Given the description of an element on the screen output the (x, y) to click on. 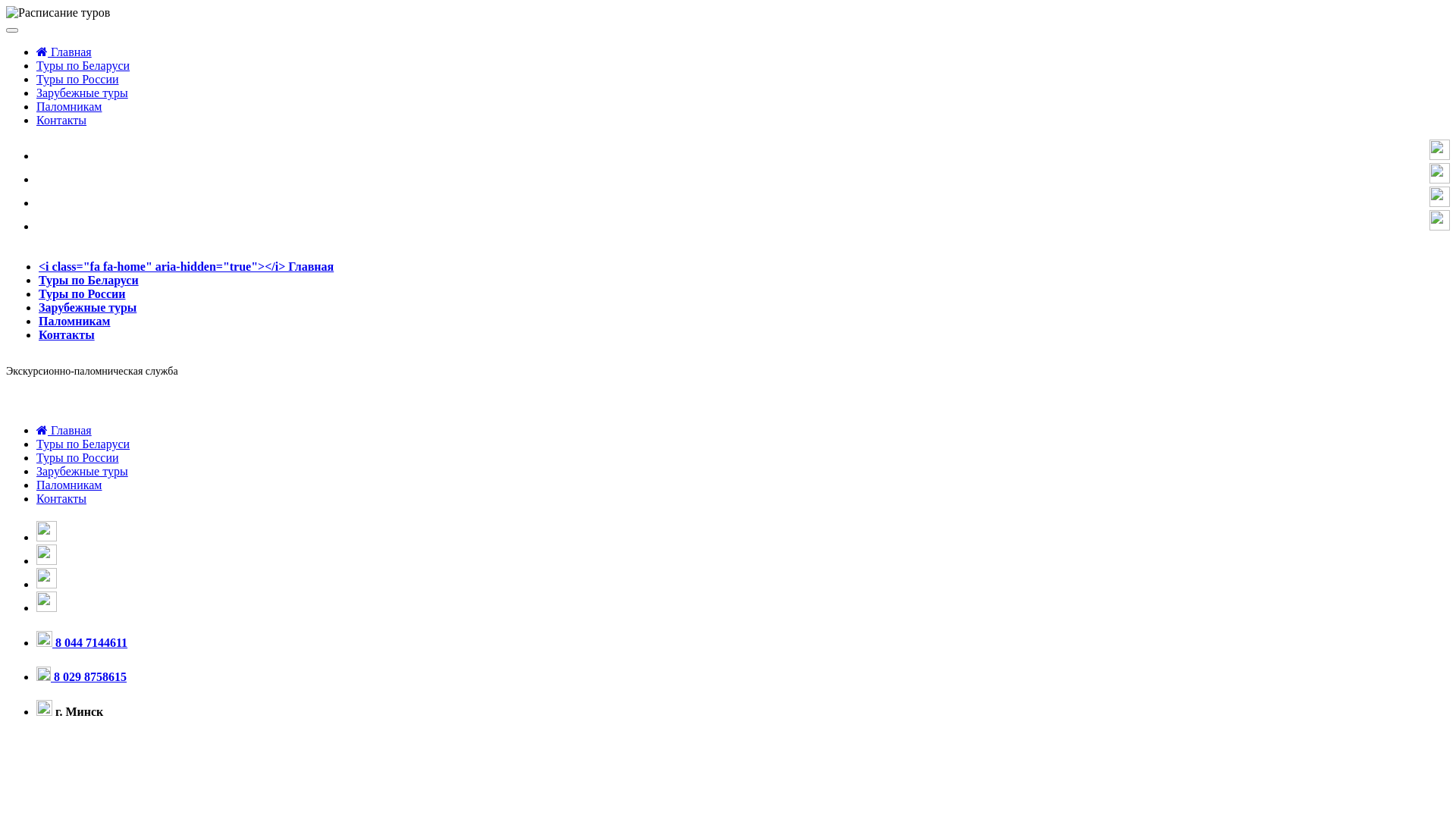
 8 029 8758615 Element type: text (81, 676)
Toggle navigation Element type: text (12, 30)
 8 044 7144611 Element type: text (81, 642)
